Given the description of an element on the screen output the (x, y) to click on. 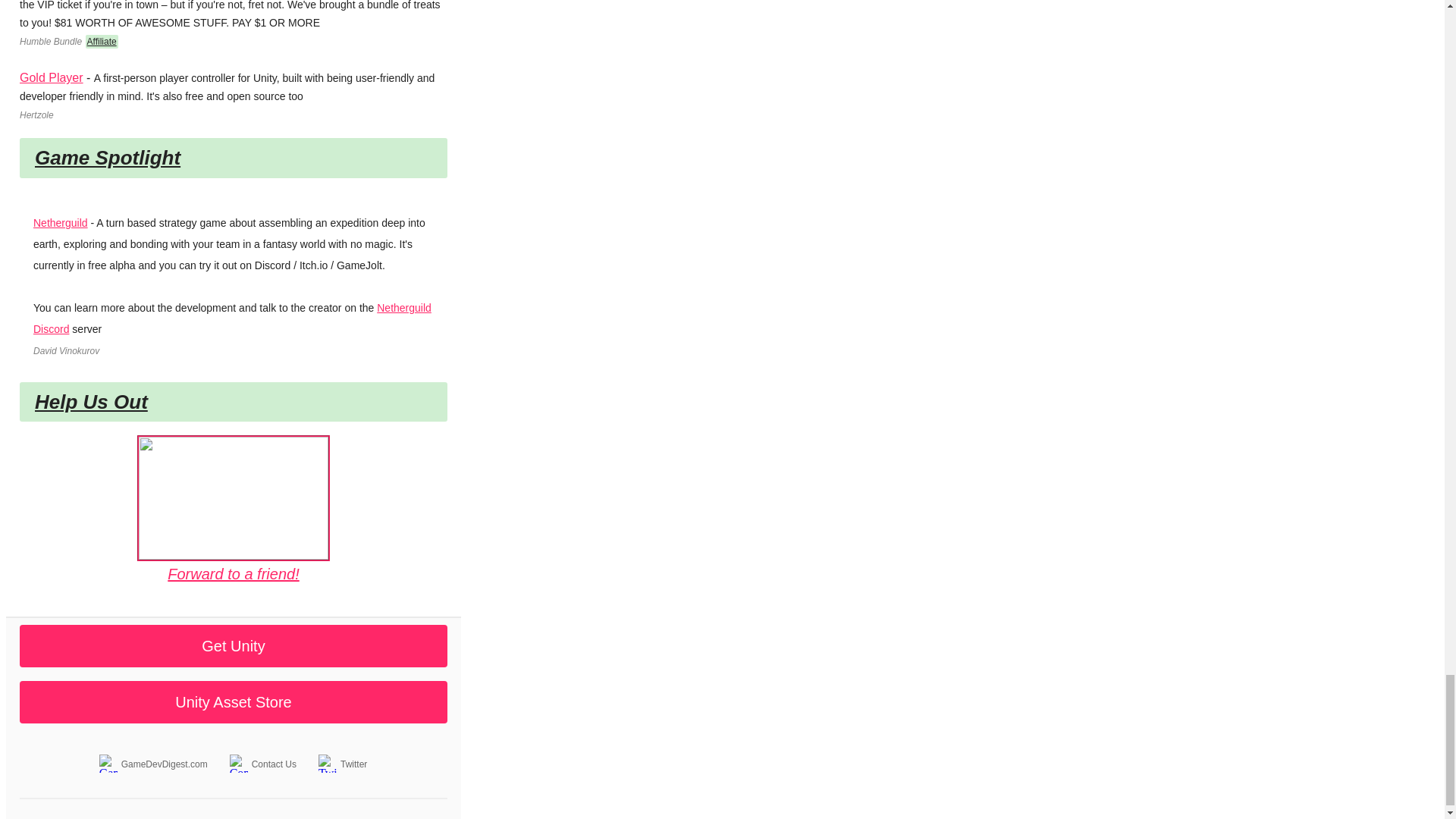
Unity Asset Store (233, 702)
Get Unity (233, 645)
